Given the description of an element on the screen output the (x, y) to click on. 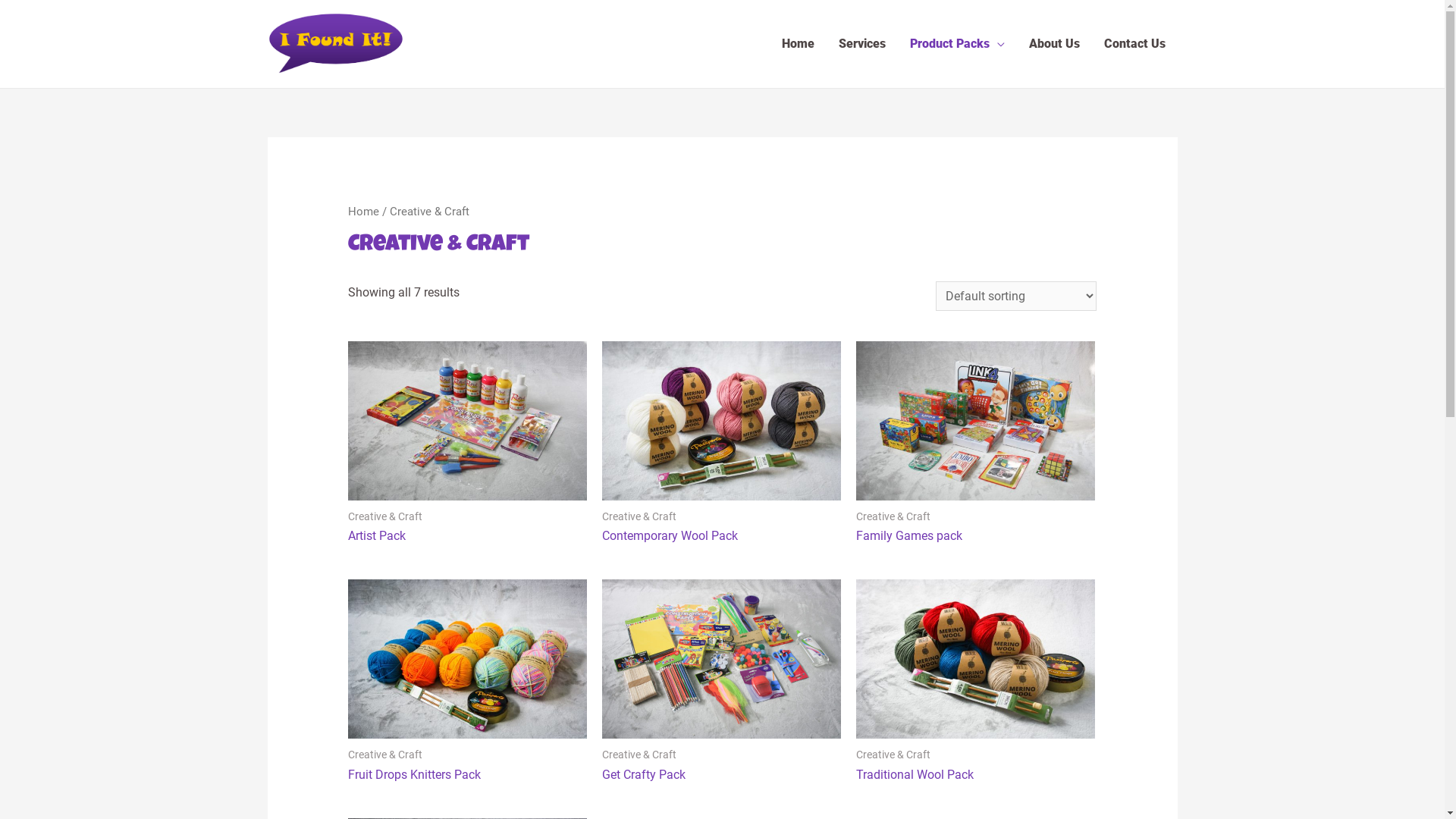
Home Element type: text (796, 43)
Product Packs Element type: text (956, 43)
About Us Element type: text (1053, 43)
Services Element type: text (861, 43)
Home Element type: text (363, 211)
Contemporary Wool Pack Element type: text (721, 535)
Family Games pack Element type: text (975, 535)
Contact Us Element type: text (1134, 43)
Get Crafty Pack Element type: text (721, 774)
Fruit Drops Knitters Pack Element type: text (467, 774)
Artist Pack Element type: text (467, 535)
Traditional Wool Pack Element type: text (975, 774)
